Given the description of an element on the screen output the (x, y) to click on. 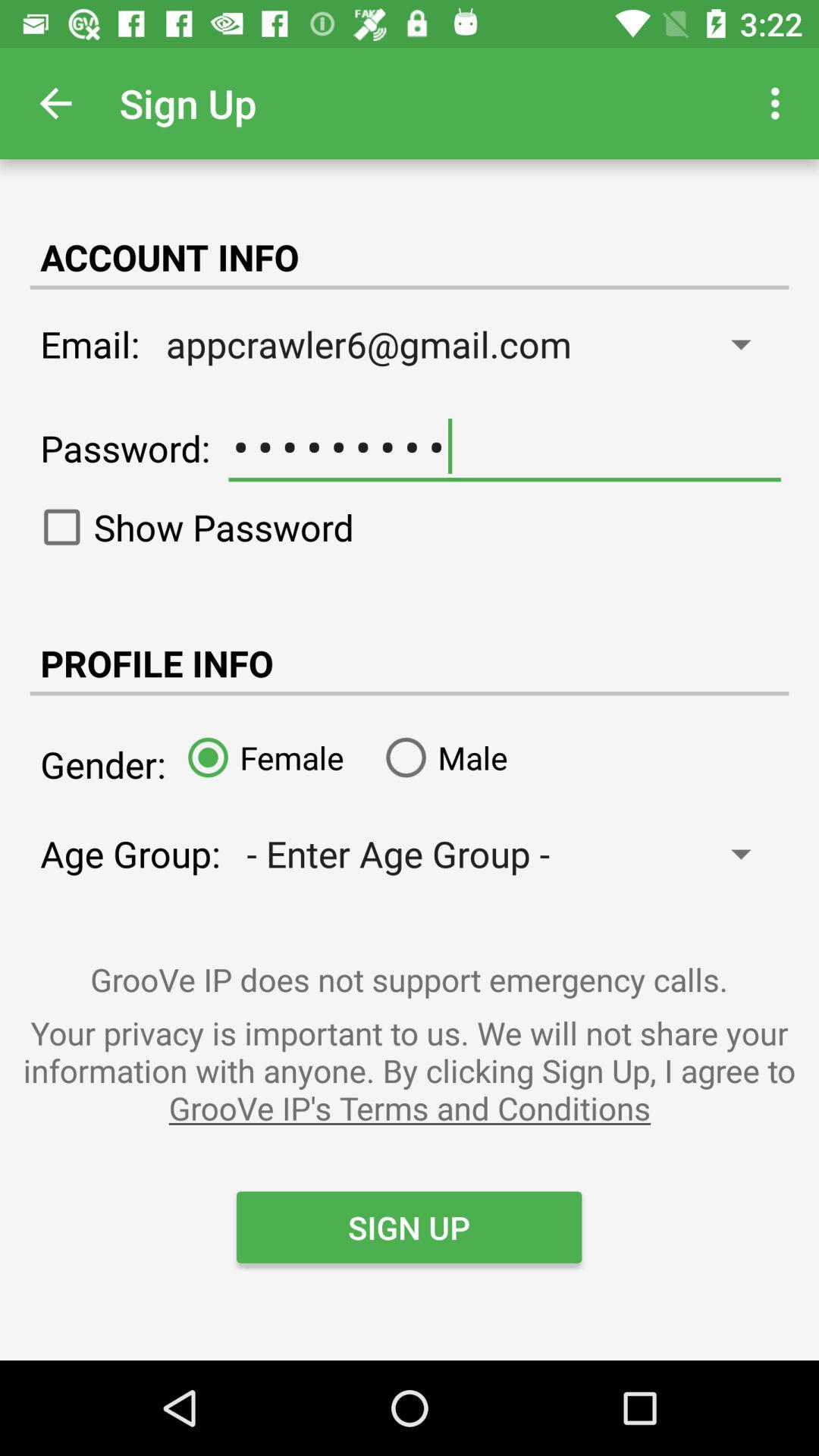
tap icon next to sign up app (55, 103)
